Given the description of an element on the screen output the (x, y) to click on. 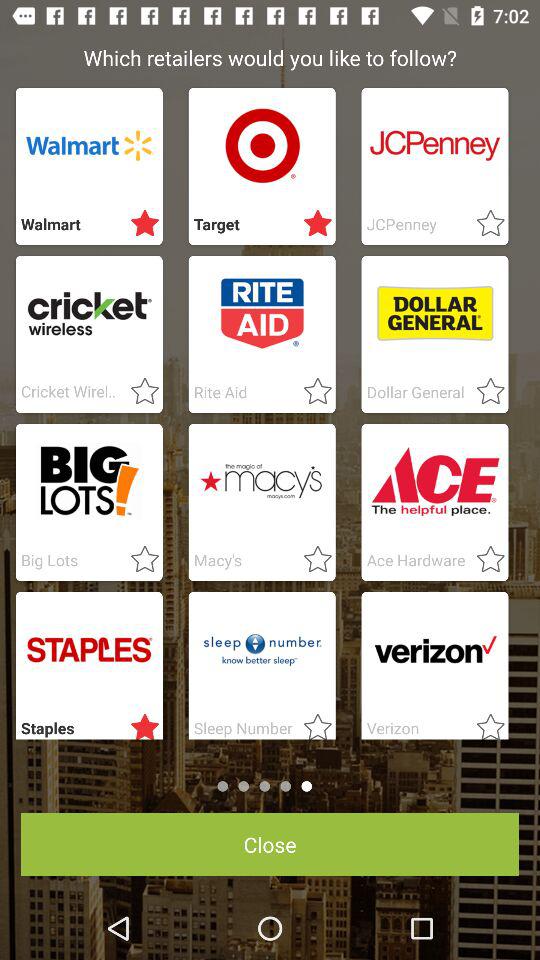
add to favorites (139, 224)
